Given the description of an element on the screen output the (x, y) to click on. 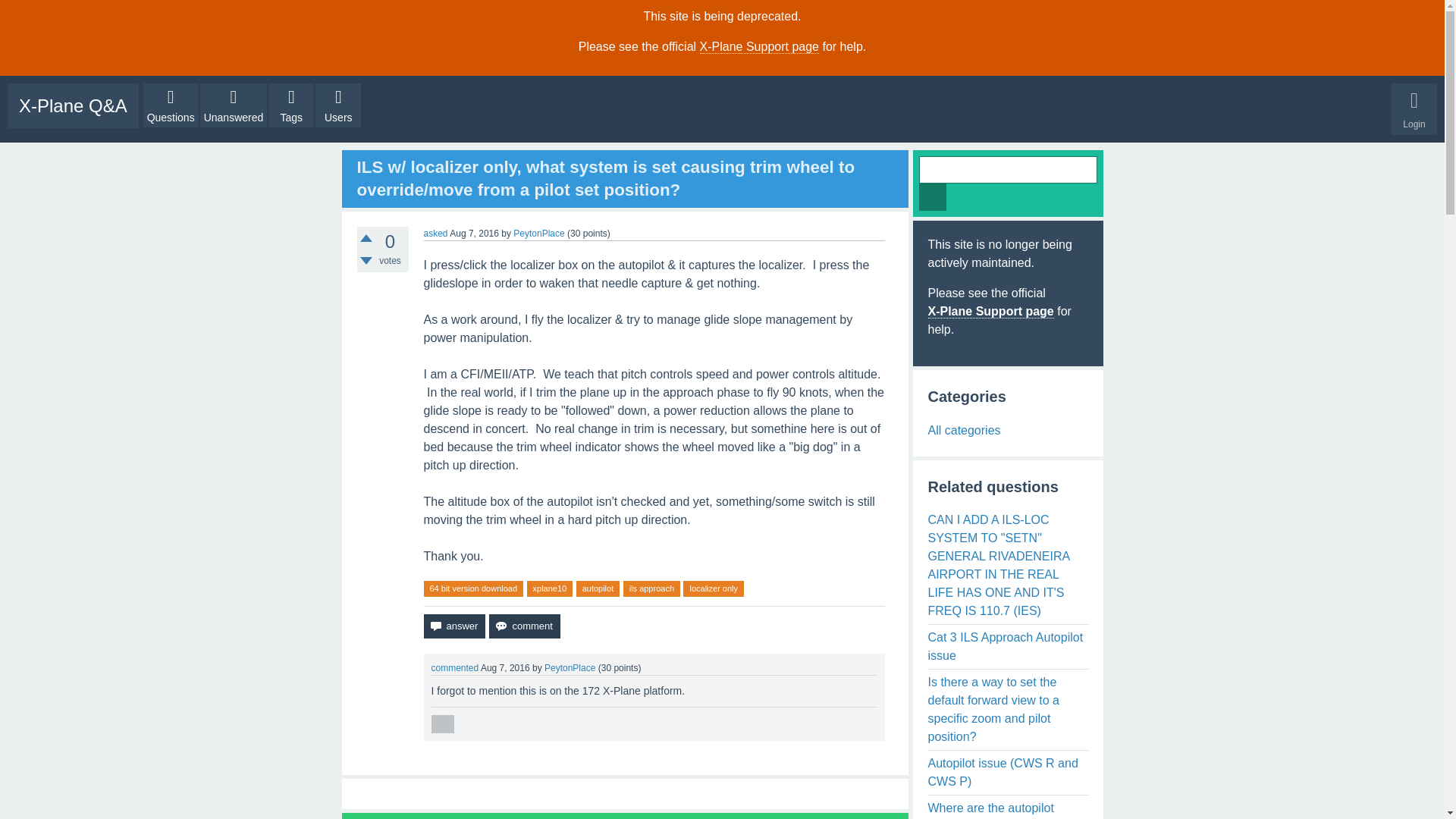
Search (932, 196)
Add a comment on this question (524, 626)
commented (454, 667)
PeytonPlace (569, 667)
reply (441, 723)
Search (932, 196)
comment (524, 626)
Answer this question (453, 626)
answer (453, 626)
Users (338, 105)
ils approach (651, 588)
Click to vote down (365, 260)
64 bit version download (472, 588)
Questions (170, 105)
Click to vote up (365, 237)
